Given the description of an element on the screen output the (x, y) to click on. 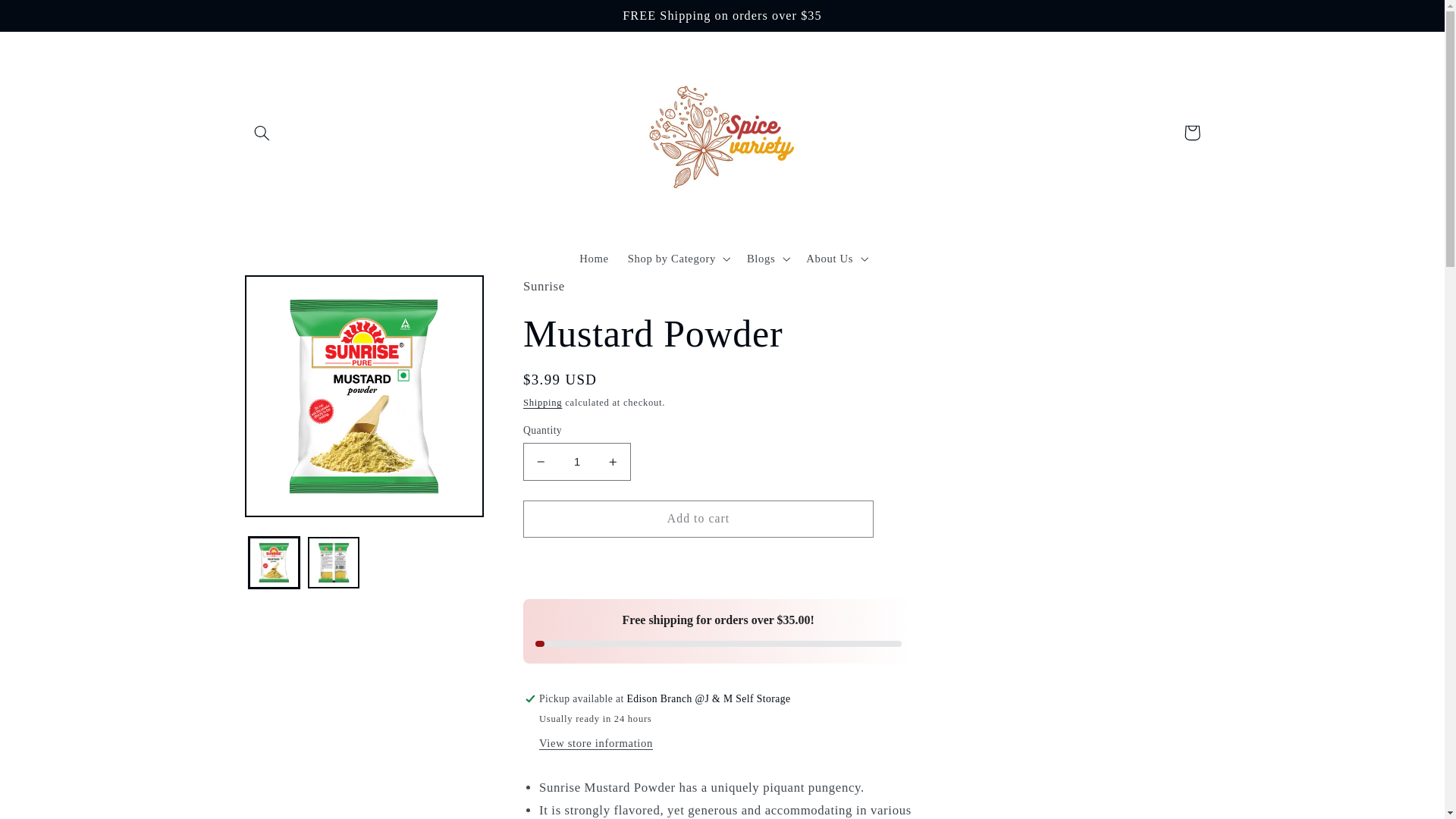
Home (594, 258)
1 (576, 461)
Skip to content (48, 18)
